Given the description of an element on the screen output the (x, y) to click on. 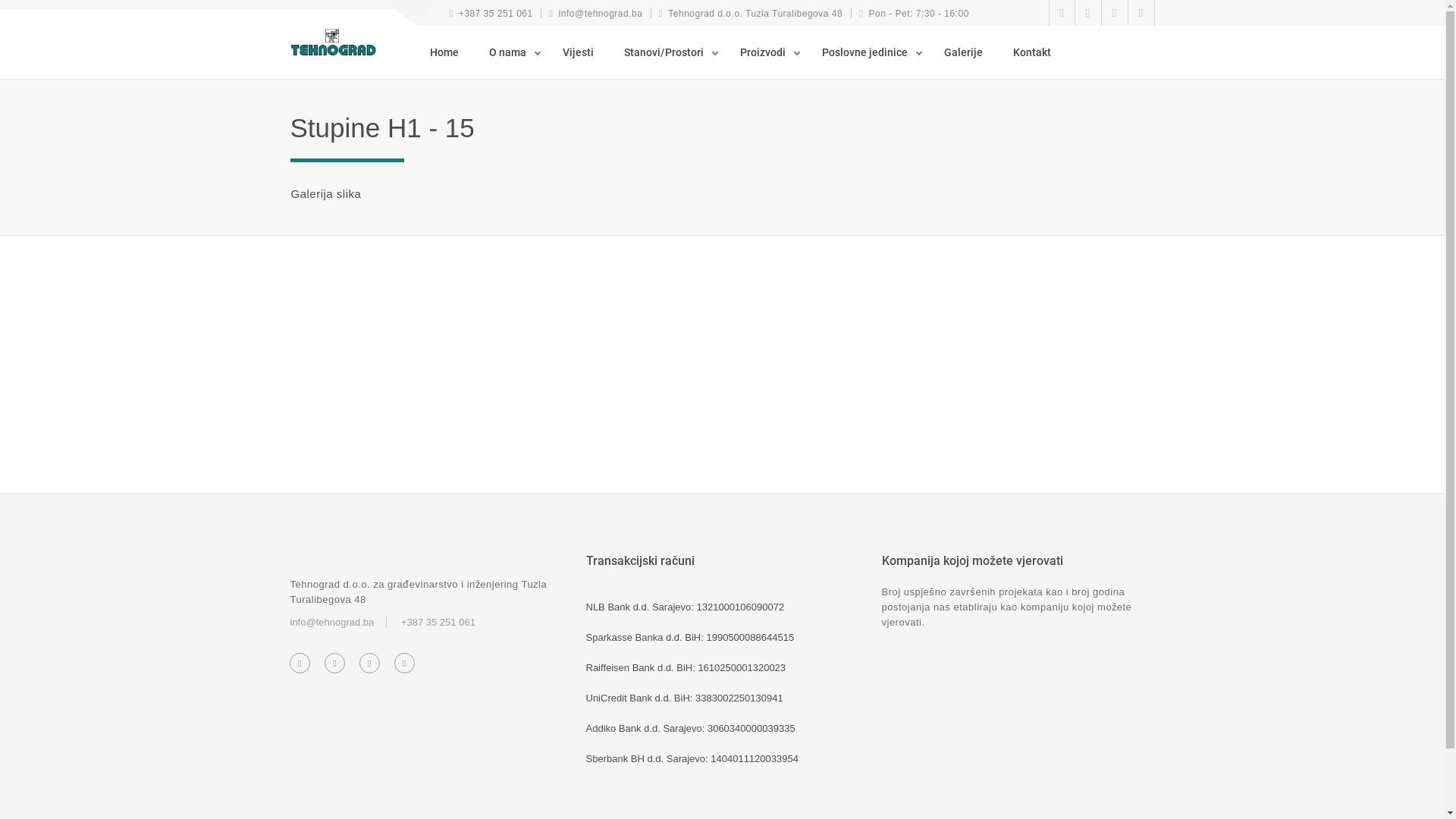
Proizvodi Element type: text (769, 51)
Vijesti Element type: text (581, 51)
Home Element type: text (447, 51)
Kontakt Element type: text (1035, 51)
O nama Element type: text (514, 51)
Stanovi/Prostori Element type: text (670, 51)
Galerije Element type: text (966, 51)
Poslovne jedinice Element type: text (871, 51)
